Given the description of an element on the screen output the (x, y) to click on. 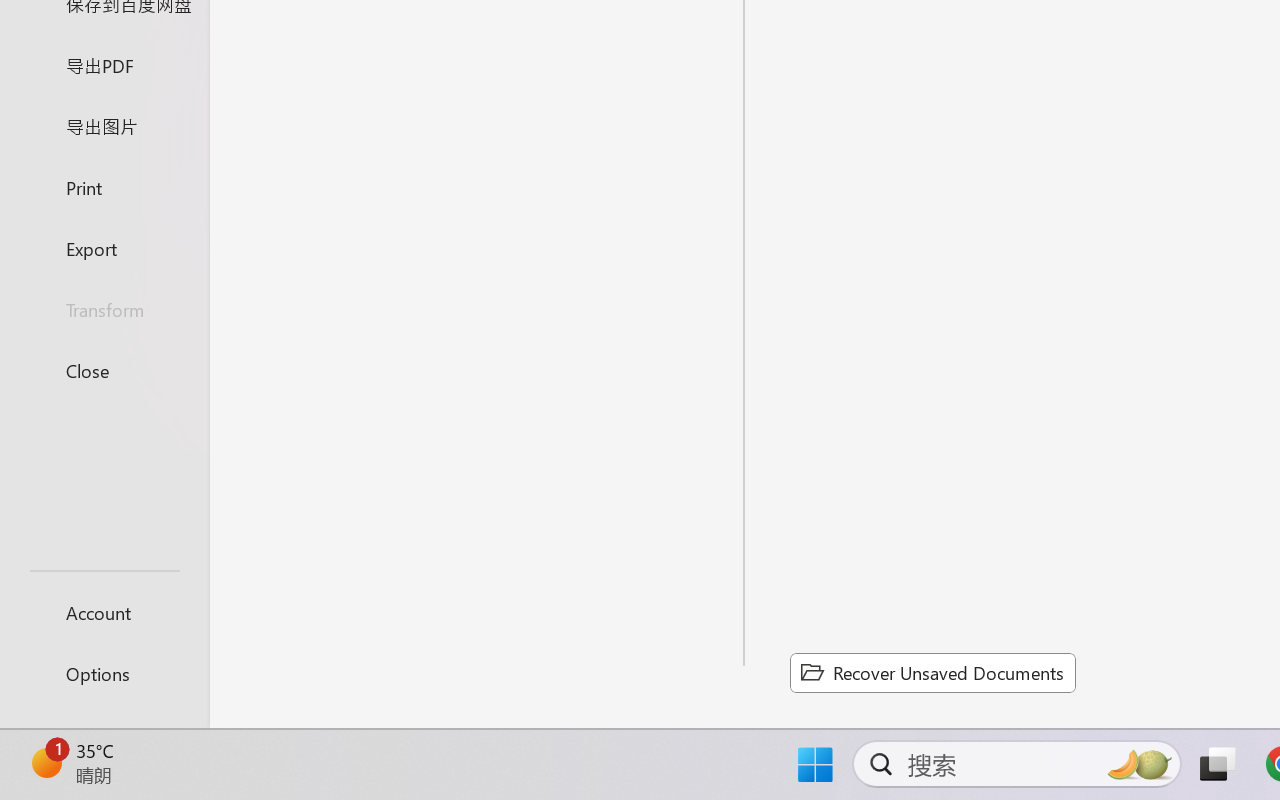
Account (104, 612)
Options (104, 673)
Print (104, 186)
Export (104, 248)
Transform (104, 309)
Recover Unsaved Documents (932, 672)
